Given the description of an element on the screen output the (x, y) to click on. 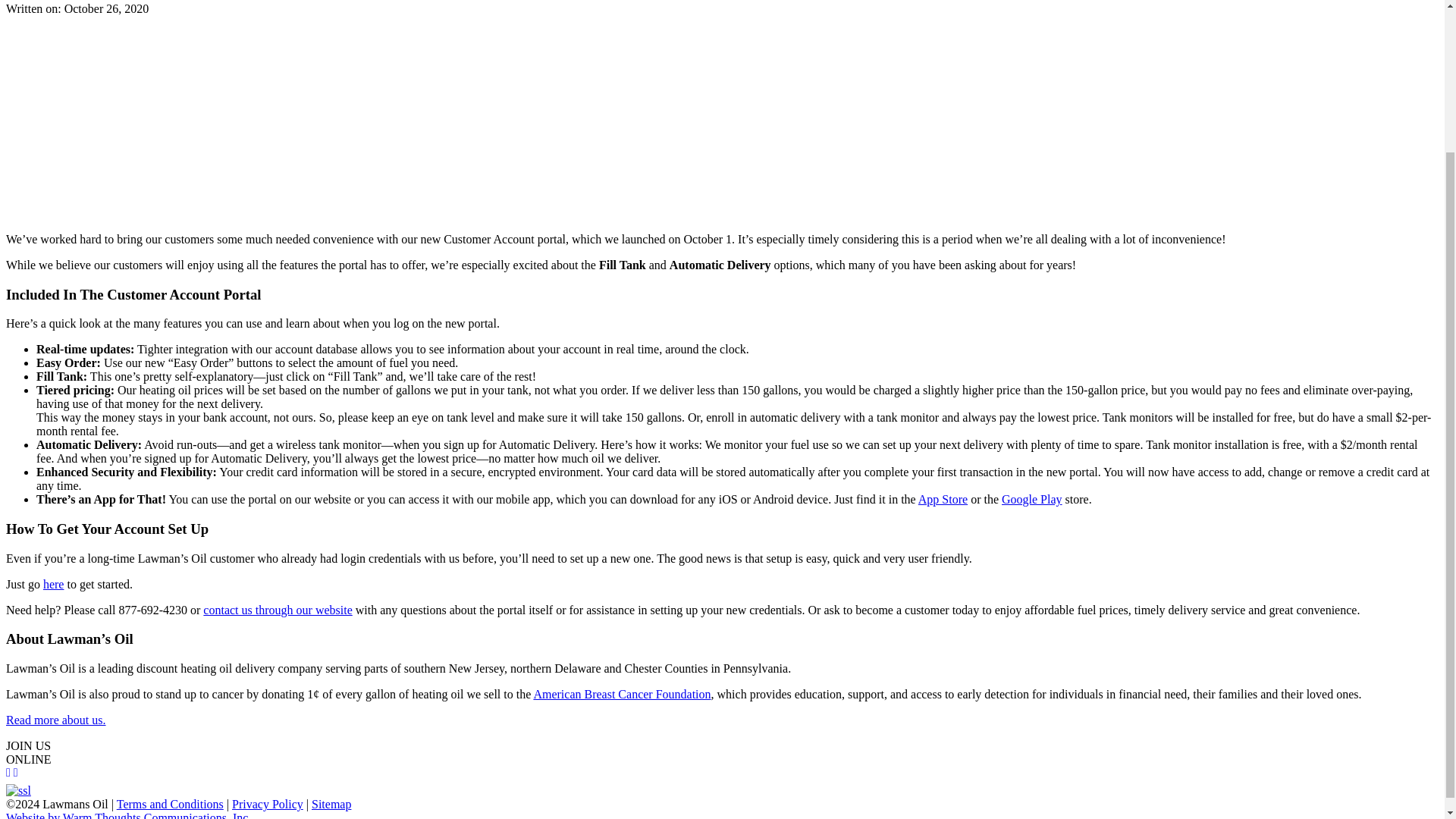
here (53, 584)
our charity (621, 694)
apple app (943, 499)
sitemap (330, 803)
Sitemap (330, 803)
facebook (7, 776)
contact (277, 609)
Google Play (1031, 499)
Terms and Conditions (170, 803)
twitter (15, 776)
google app (1031, 499)
App Store (943, 499)
privacy (266, 803)
American Breast Cancer Foundation (621, 694)
positive ssl (17, 789)
